Given the description of an element on the screen output the (x, y) to click on. 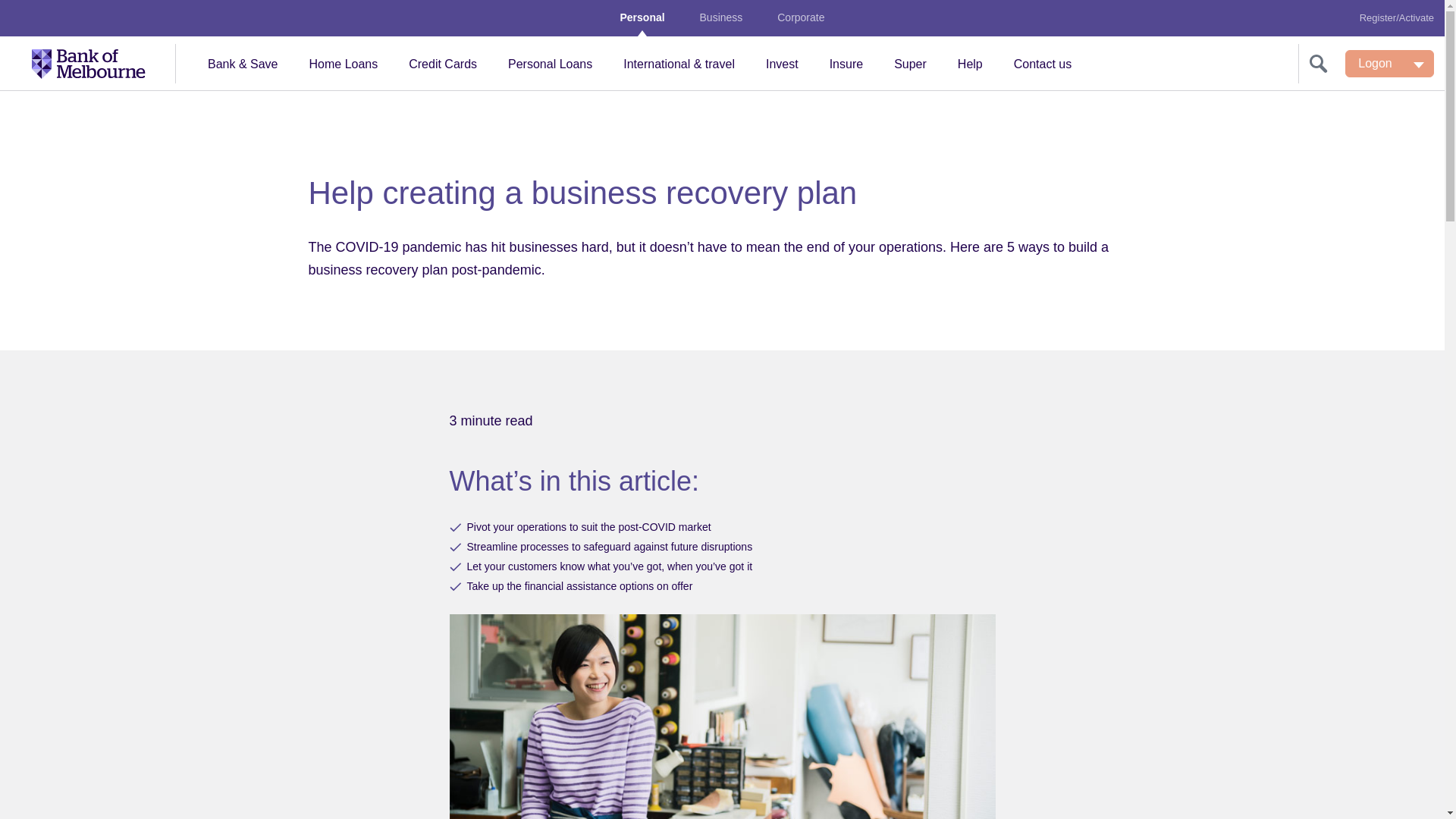
Business (721, 17)
Insure (845, 63)
Home Loans (343, 63)
Search (1321, 63)
Credit Cards (442, 63)
Super (910, 63)
Invest (782, 63)
Corporate (800, 17)
Logon (1389, 62)
Contact us (1042, 63)
Personal Loans (550, 63)
Personal (642, 17)
Search (1317, 63)
Help (969, 63)
